Given the description of an element on the screen output the (x, y) to click on. 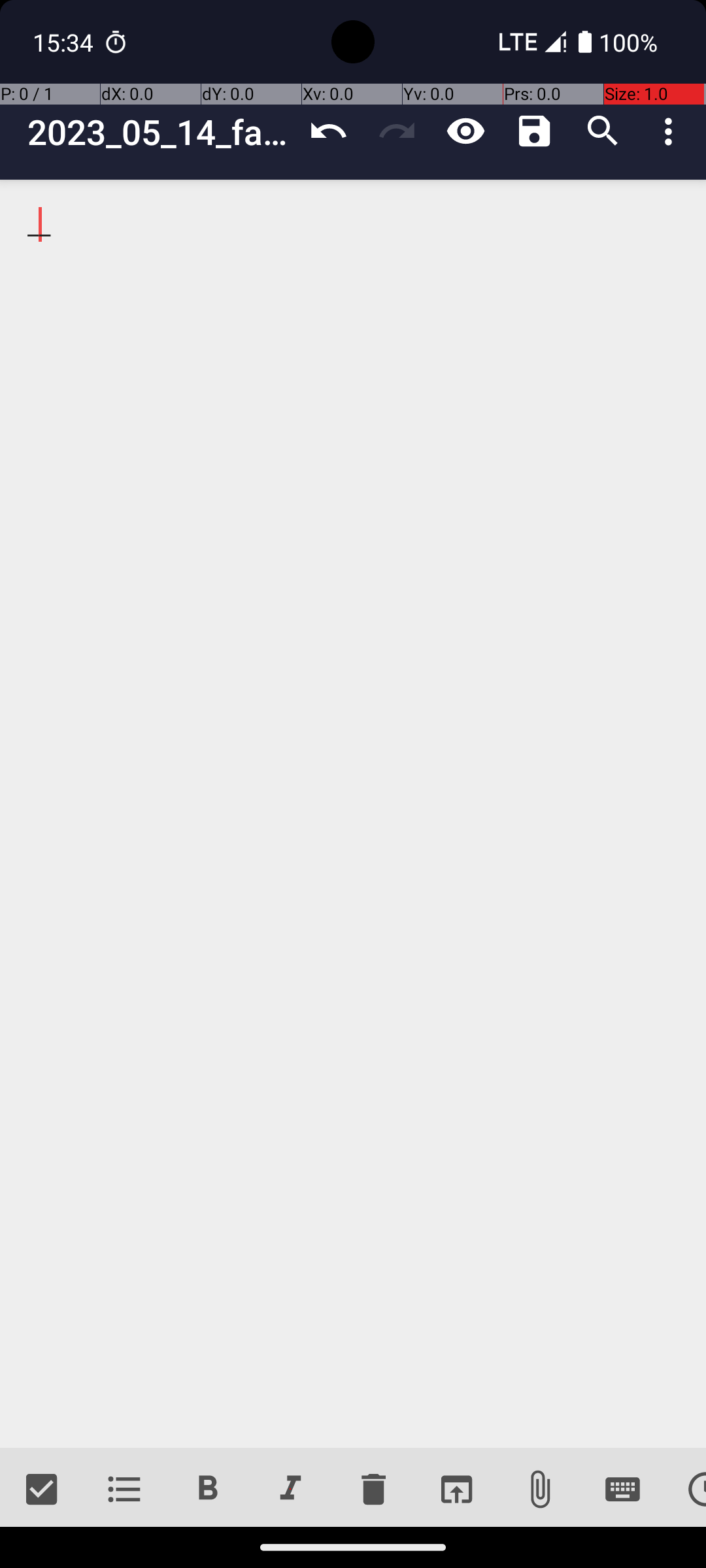
2023_05_14_favorite_book_quotes Element type: android.widget.TextView (160, 131)
__ Element type: android.widget.EditText (353, 813)
